Given the description of an element on the screen output the (x, y) to click on. 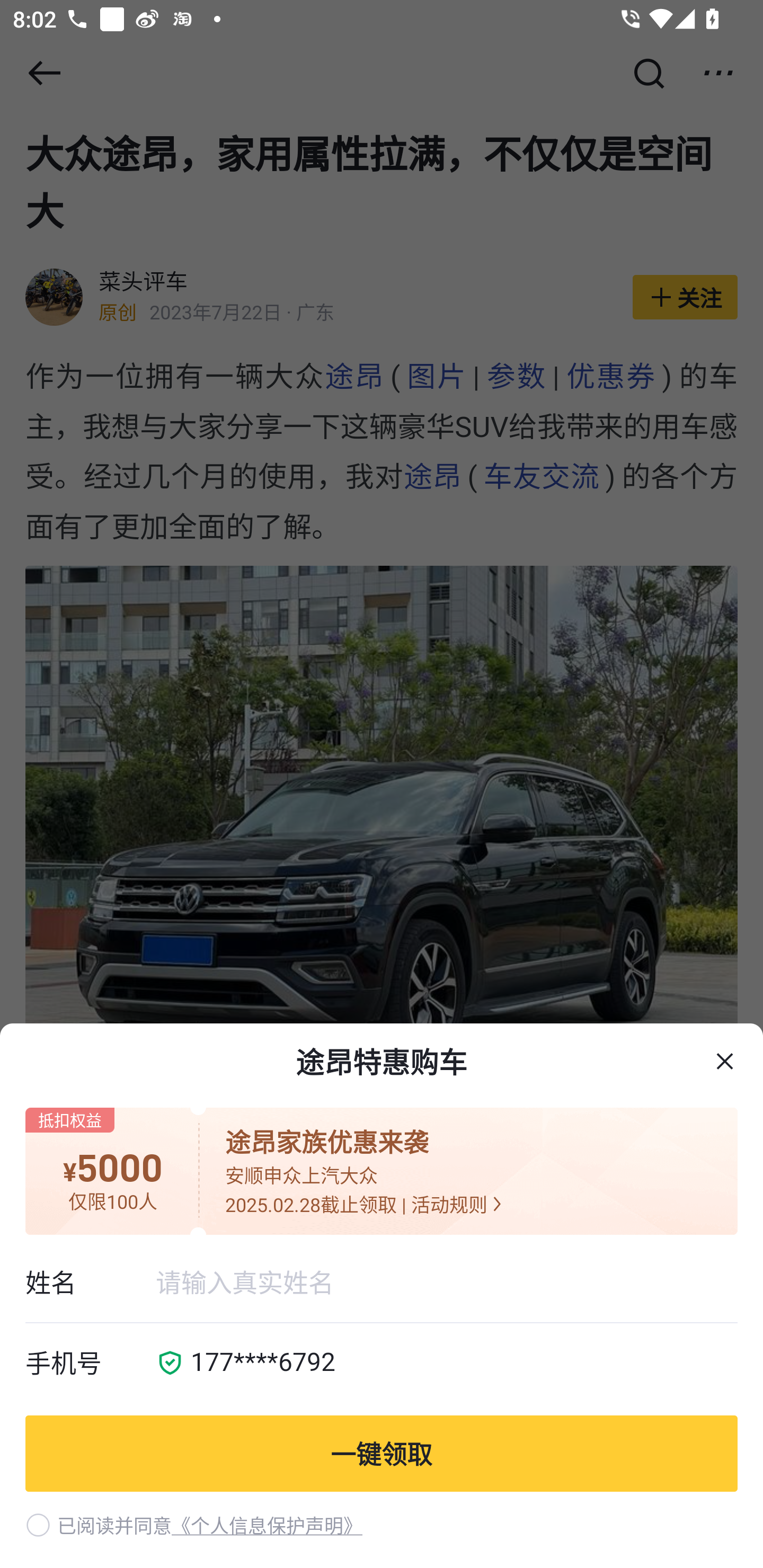
 (724, 1061)
 |  活动规则  (451, 1203)
姓名 (90, 1282)
请输入真实姓名 (446, 1282)
手机号 (90, 1363)
177****6792 (457, 1363)
一键领取 (381, 1453)
